Given the description of an element on the screen output the (x, y) to click on. 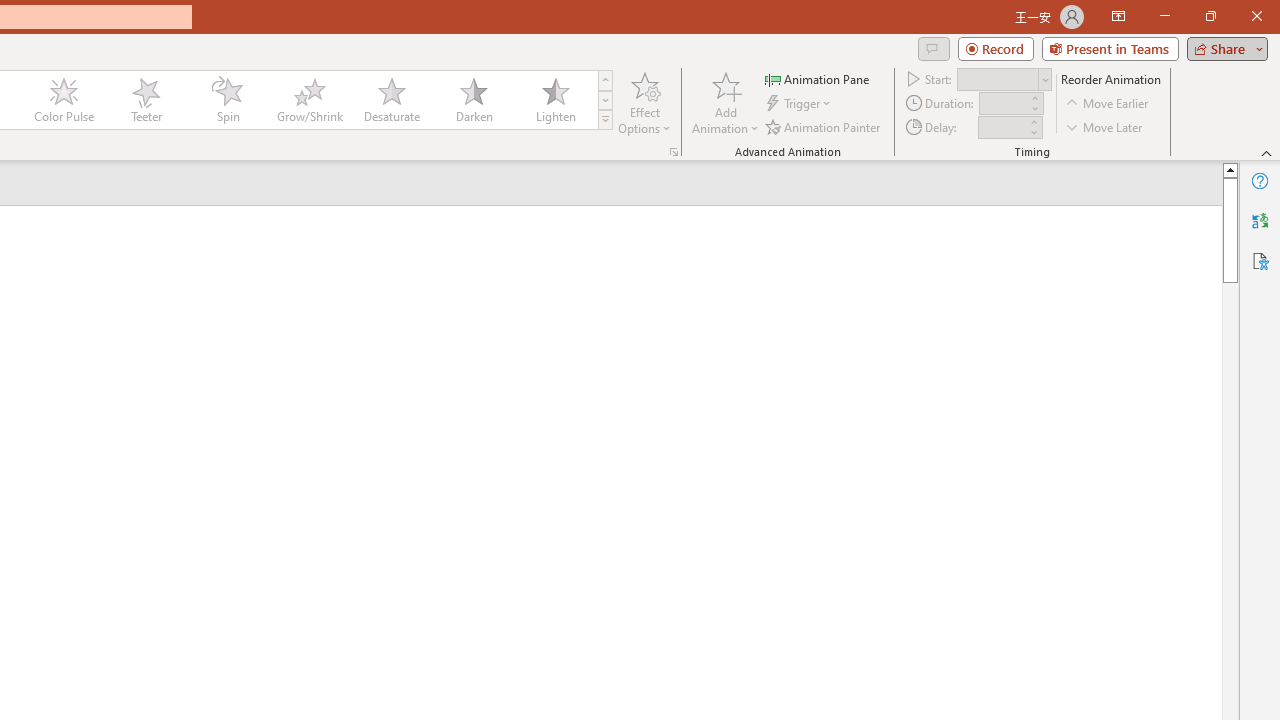
Add Animation (725, 102)
Less (1033, 132)
Move Earlier (1107, 103)
More (1033, 121)
Trigger (799, 103)
Teeter (145, 100)
Animation Styles (605, 120)
Animation Delay (1002, 127)
